Given the description of an element on the screen output the (x, y) to click on. 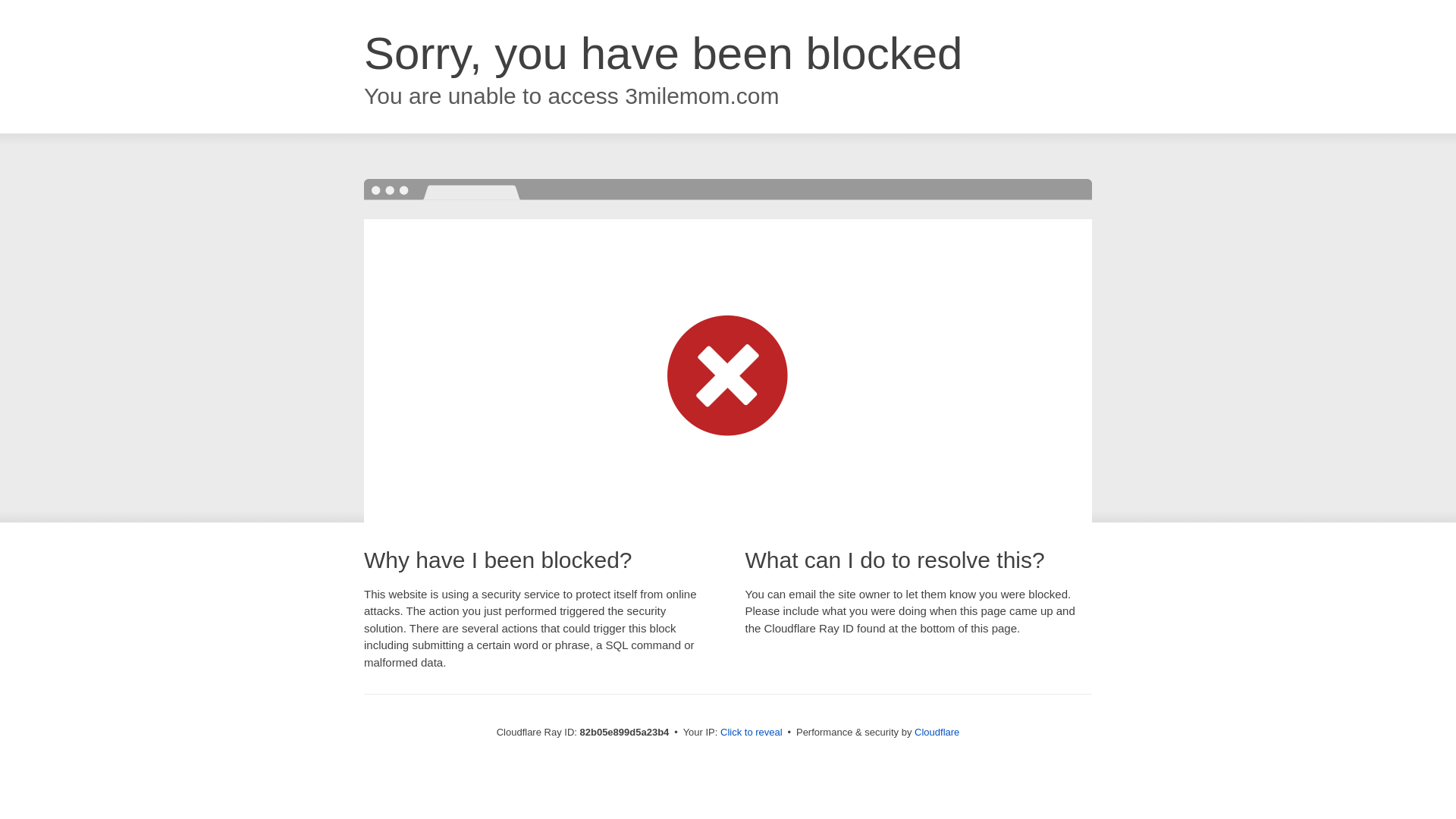
Cloudflare Element type: text (936, 731)
Click to reveal Element type: text (751, 732)
